Given the description of an element on the screen output the (x, y) to click on. 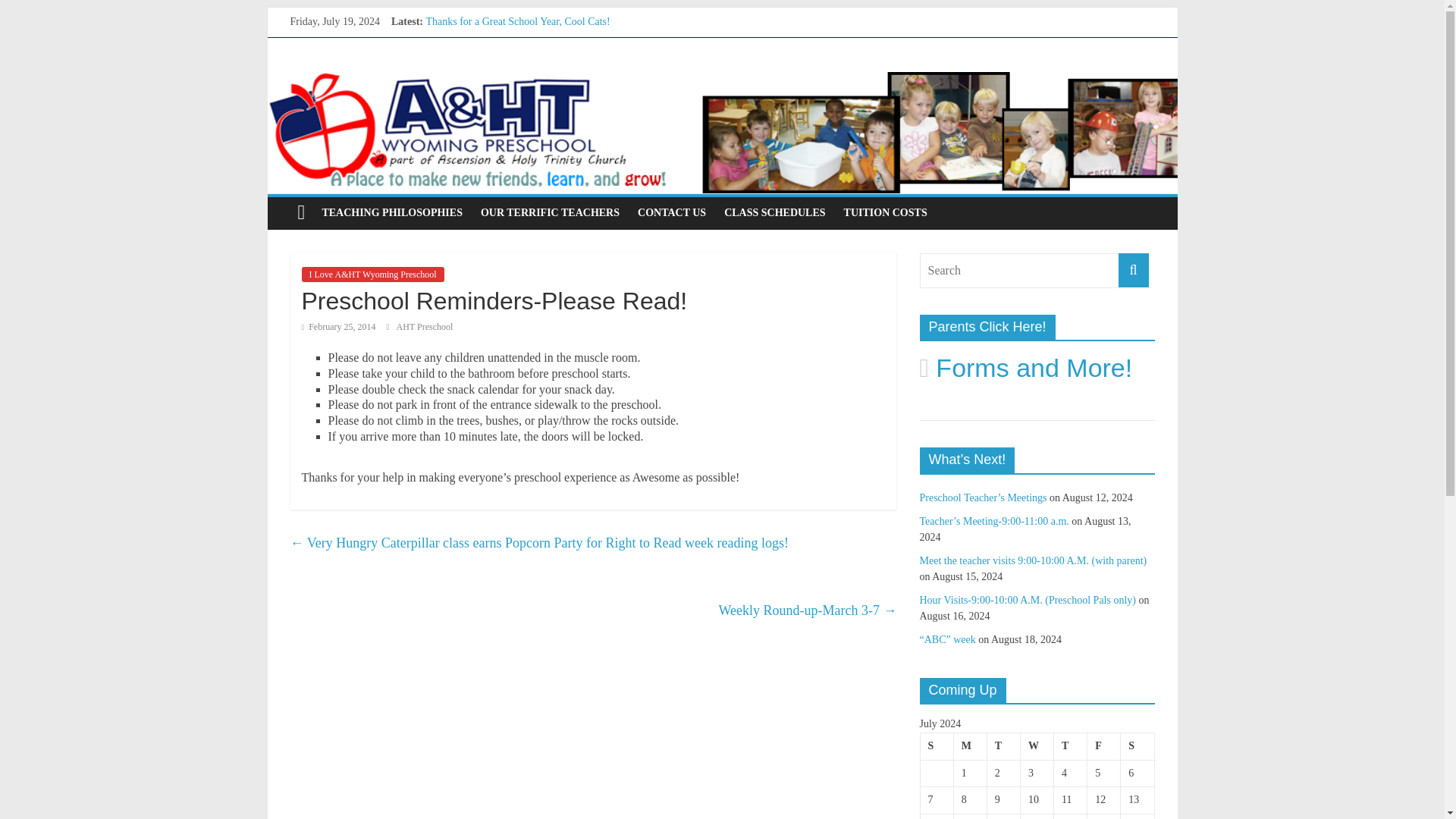
Happy 5th Birthday, Amari! (484, 38)
Thursday (1070, 746)
Playful Bunnies! (461, 89)
OUR TERRIFIC TEACHERS (549, 213)
Weekly Round-up-May 15th-August 19th, 2024 (526, 71)
Friday (1104, 746)
Saturday (1137, 746)
TEACHING PHILOSOPHIES (392, 213)
Happy 5th Birthday, Eleanor! (488, 55)
TUITION COSTS (885, 213)
Sunday (936, 746)
Thanks for a Great School Year, Cool Cats! (517, 21)
Happy 5th Birthday, Eleanor! (488, 55)
AHT Preschool (424, 326)
